Given the description of an element on the screen output the (x, y) to click on. 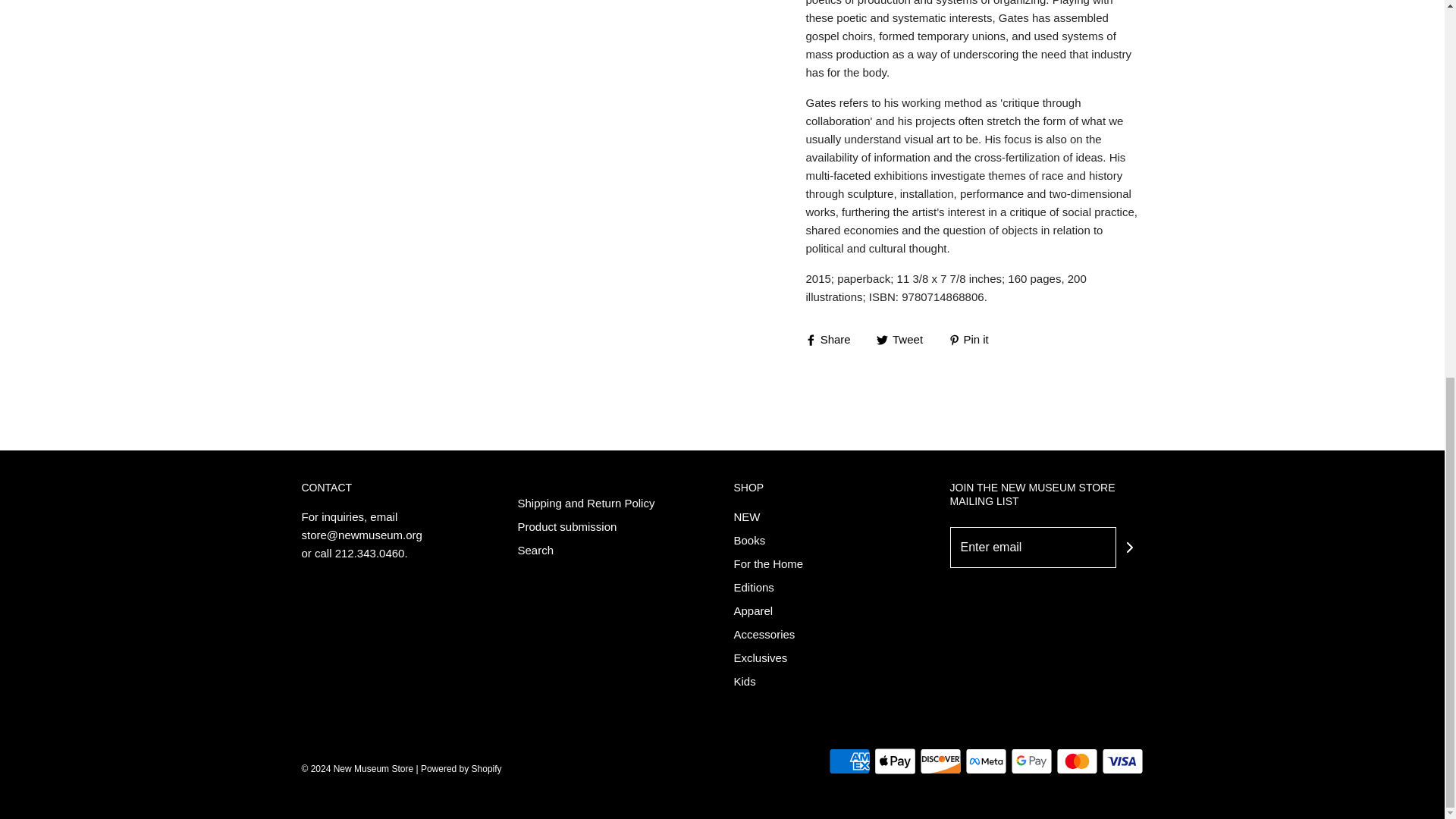
American Express (848, 761)
Discover (939, 761)
Mastercard (1076, 761)
Meta Pay (984, 761)
Google Pay (1030, 761)
Apple Pay (894, 761)
Visa (1121, 761)
